Given the description of an element on the screen output the (x, y) to click on. 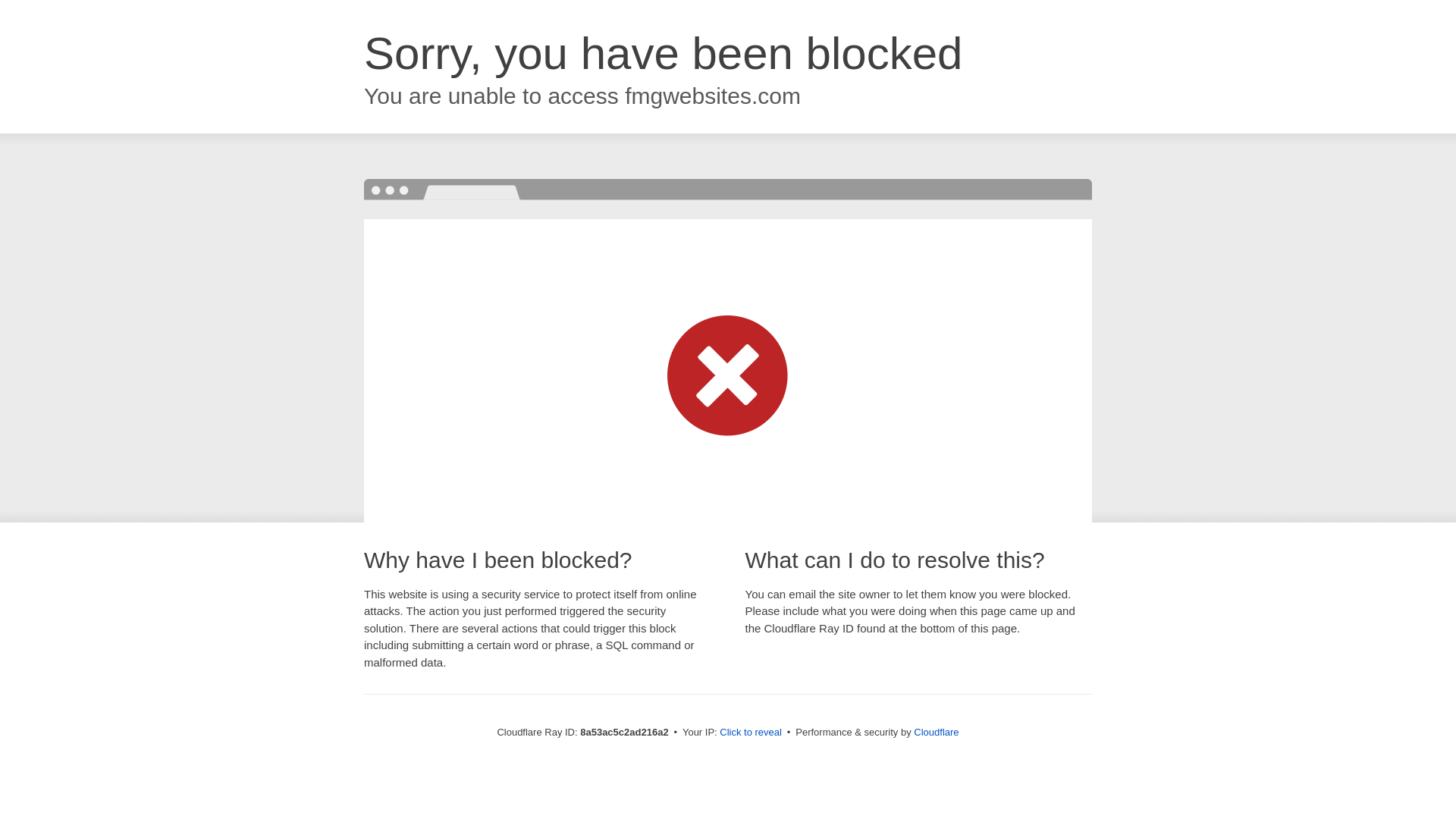
Cloudflare (936, 731)
Click to reveal (750, 732)
